Given the description of an element on the screen output the (x, y) to click on. 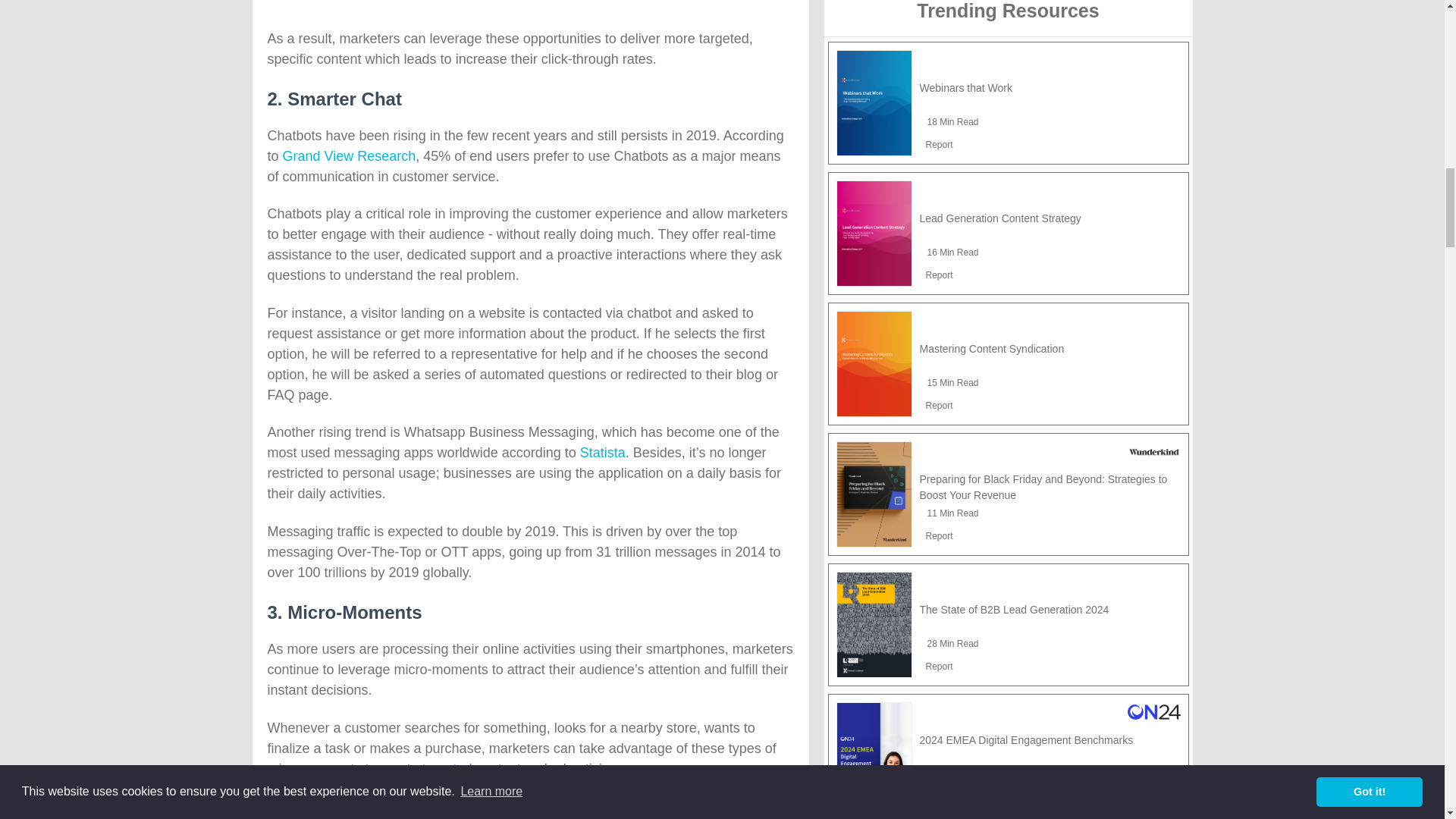
View Lead Generation Content Strategy (999, 218)
targeted (446, 768)
Statista (602, 452)
Link to Webinars that Work (873, 102)
Link to Lead Generation Content Strategy (873, 233)
Link to Mastering Content Syndication (873, 363)
Grand View Research (349, 155)
View Mastering Content Syndication (991, 348)
View Webinars that Work (964, 87)
